Given the description of an element on the screen output the (x, y) to click on. 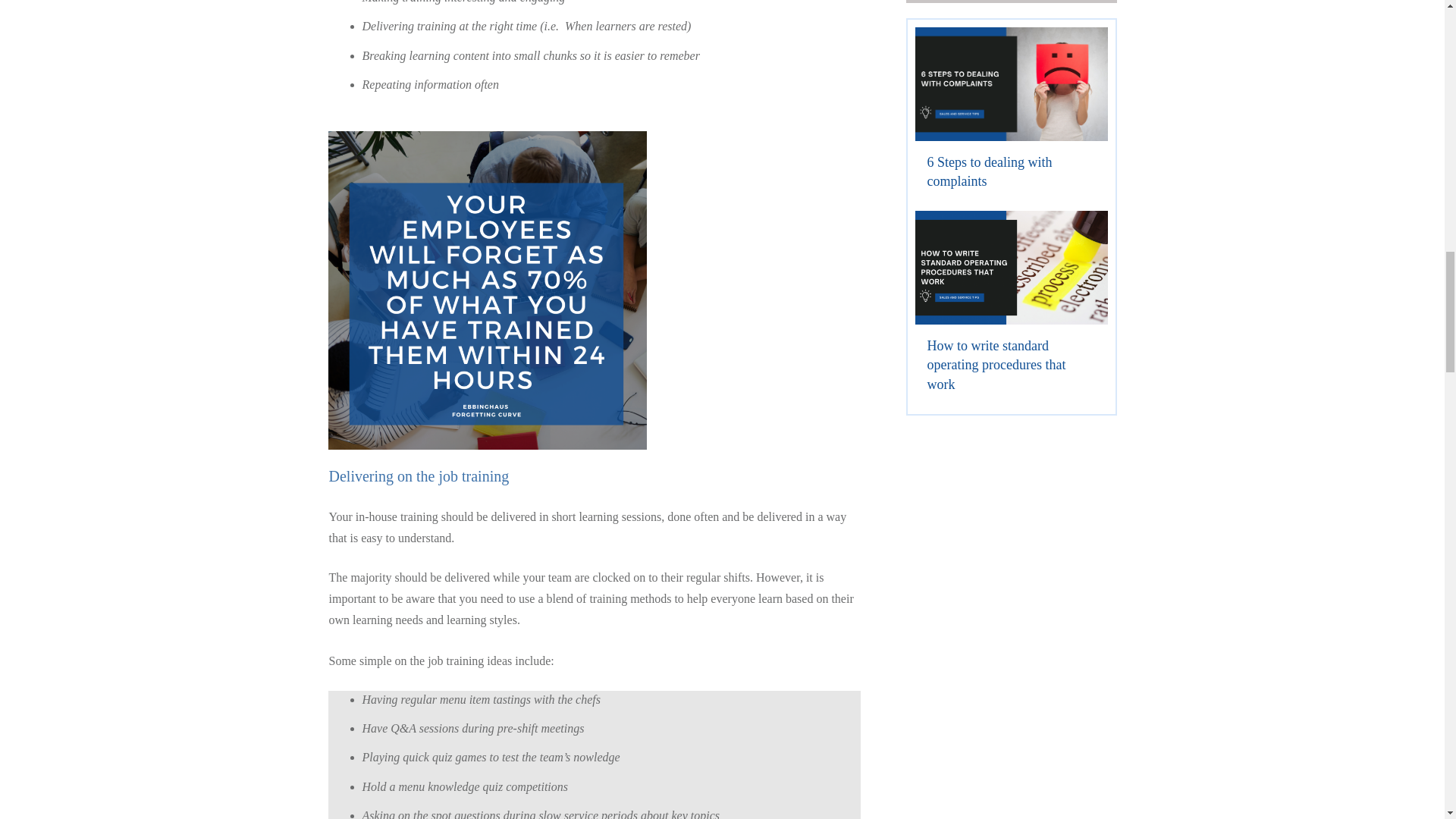
How to write standard operating procedures that work (995, 364)
How to write standard operating procedures that work (995, 364)
How to write standard operating procedures that work (1010, 308)
PE- Forgetting Curve quote (486, 290)
6 Steps to dealing with complaints (1010, 115)
6 Steps to dealing with complaints (988, 171)
6 Steps to dealing with complaints (988, 171)
